Given the description of an element on the screen output the (x, y) to click on. 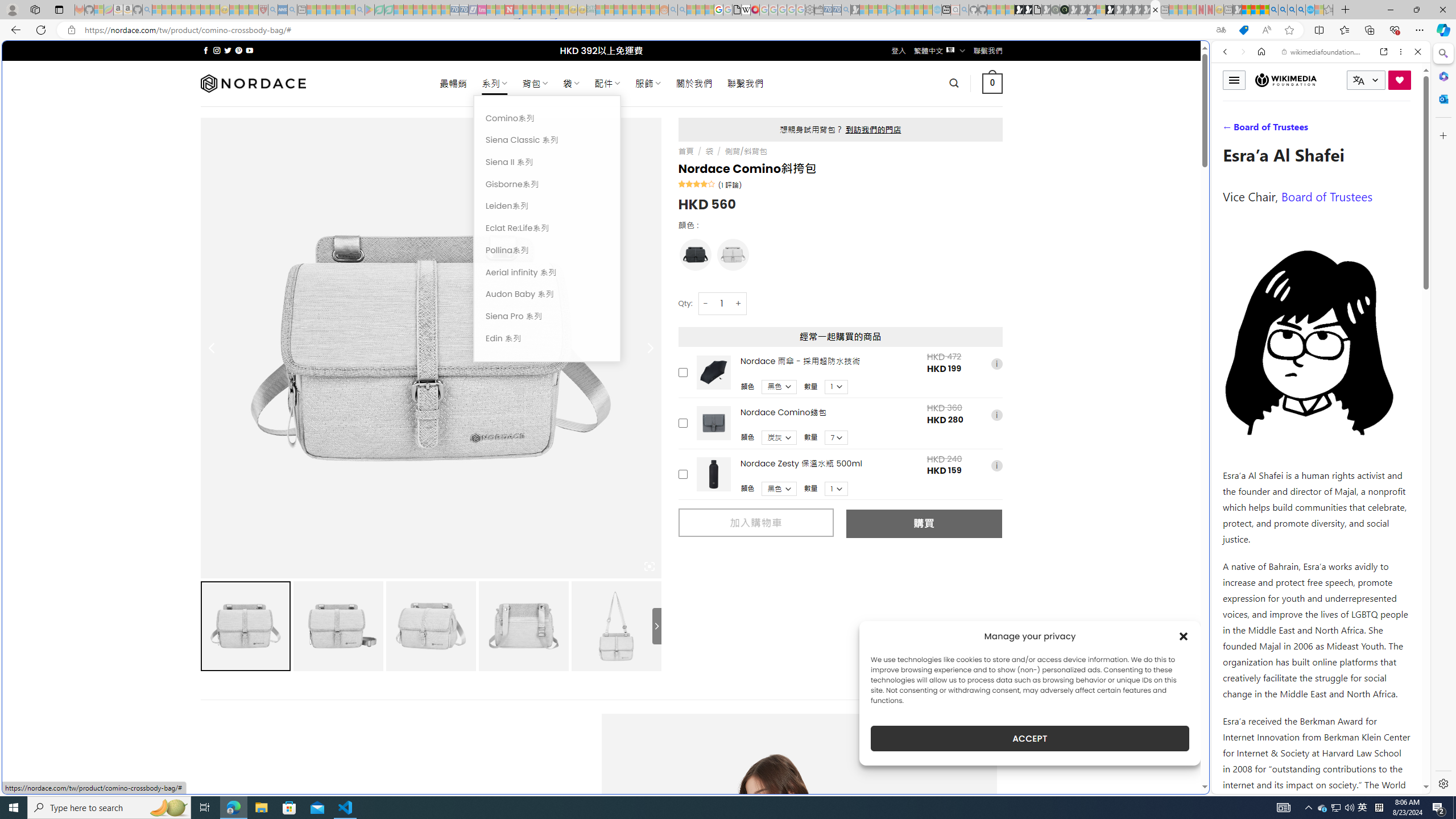
  0   (992, 83)
wikimediafoundation.org (1323, 51)
VIDEOS (1300, 130)
IMAGES (1262, 130)
